Given the description of an element on the screen output the (x, y) to click on. 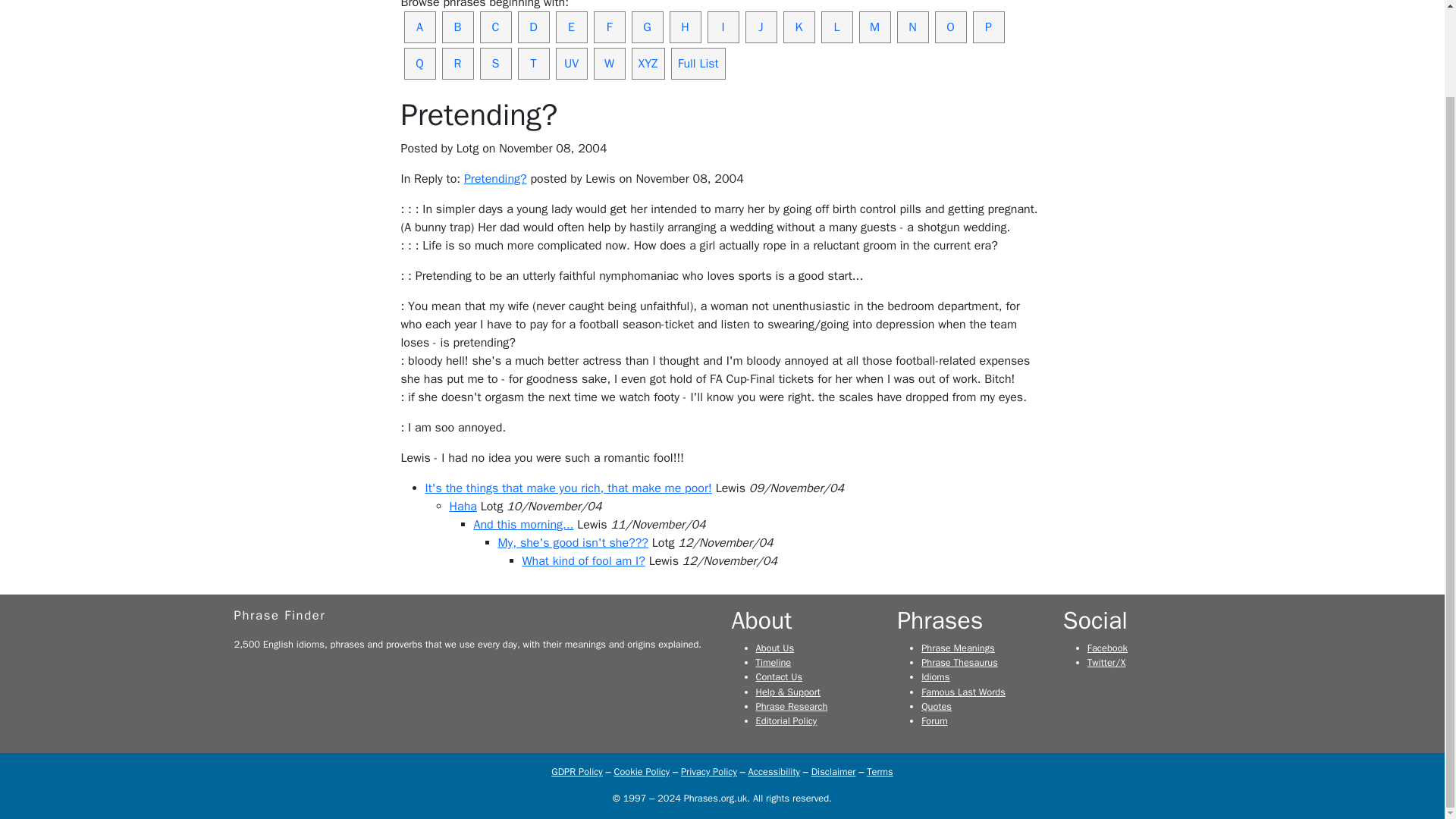
Sayings and idioms that begin with the letter P (988, 27)
And this morning... (523, 524)
Sayings and idioms that begin with the letter H (684, 27)
J (760, 27)
Sayings and idioms that begin with the letter D (532, 27)
It's the things that make you rich, that make me poor! (568, 488)
Sayings and idioms that begin with the letter Q (419, 63)
Sayings and idioms that begin with the letter N (912, 27)
P (988, 27)
L (836, 27)
Sayings and idioms that begin with the letter R (457, 63)
S (495, 63)
Sayings and idioms that begin with the letter O (950, 27)
H (684, 27)
Sayings and idioms that begin with the letter E (570, 27)
